Given the description of an element on the screen output the (x, y) to click on. 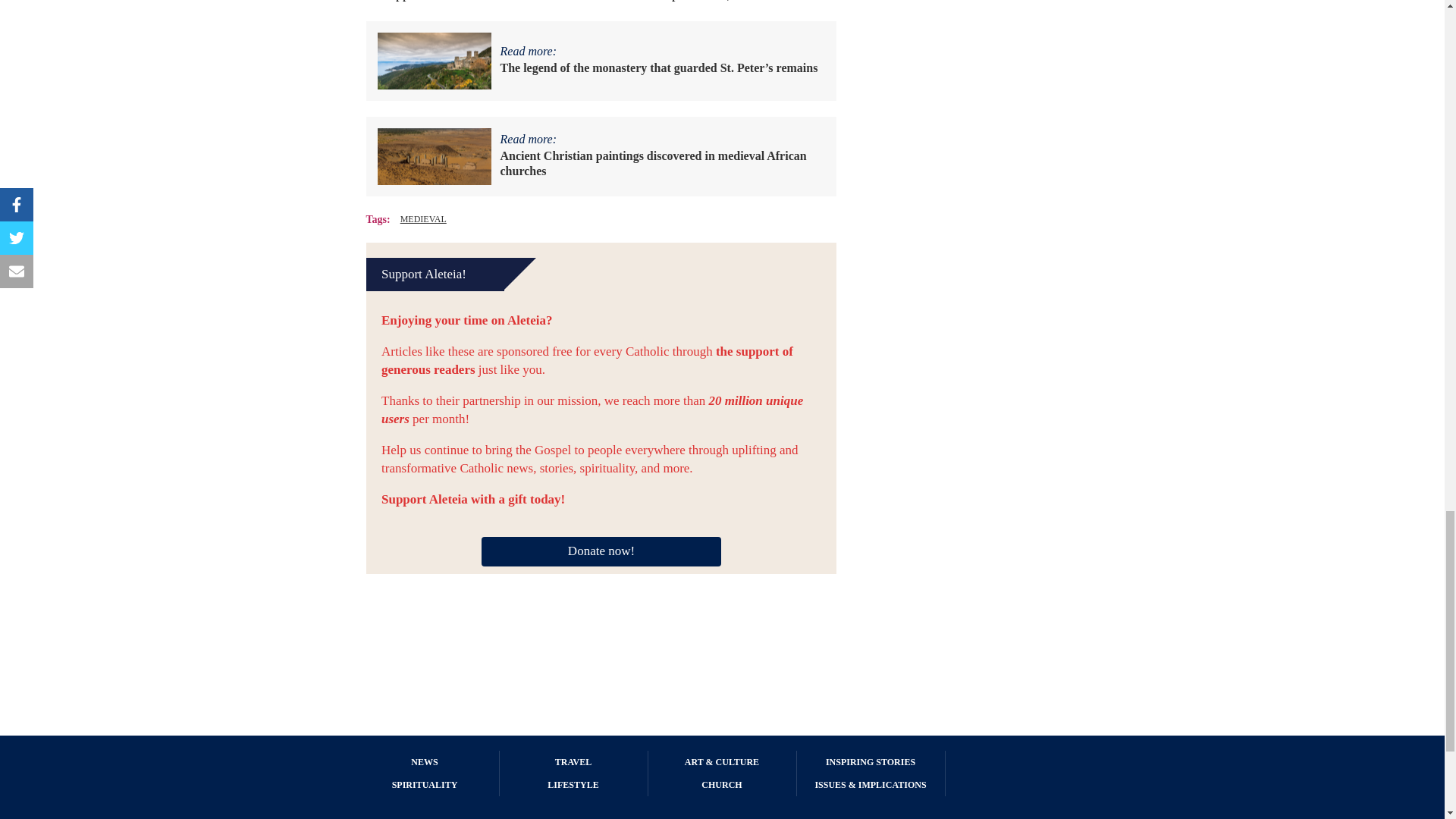
3rd party ad content (722, 637)
